Given the description of an element on the screen output the (x, y) to click on. 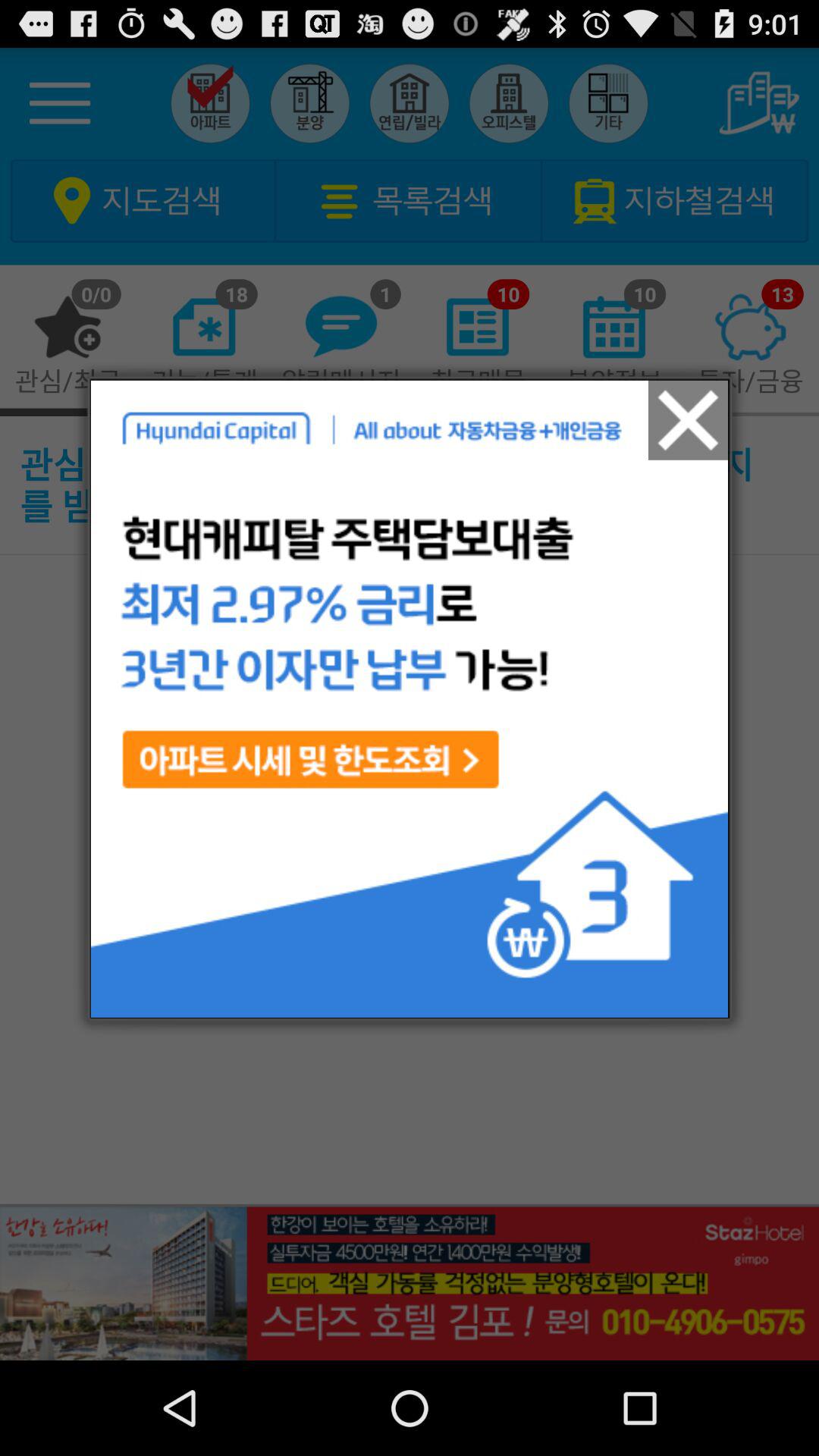
turn on the icon at the center (409, 698)
